Given the description of an element on the screen output the (x, y) to click on. 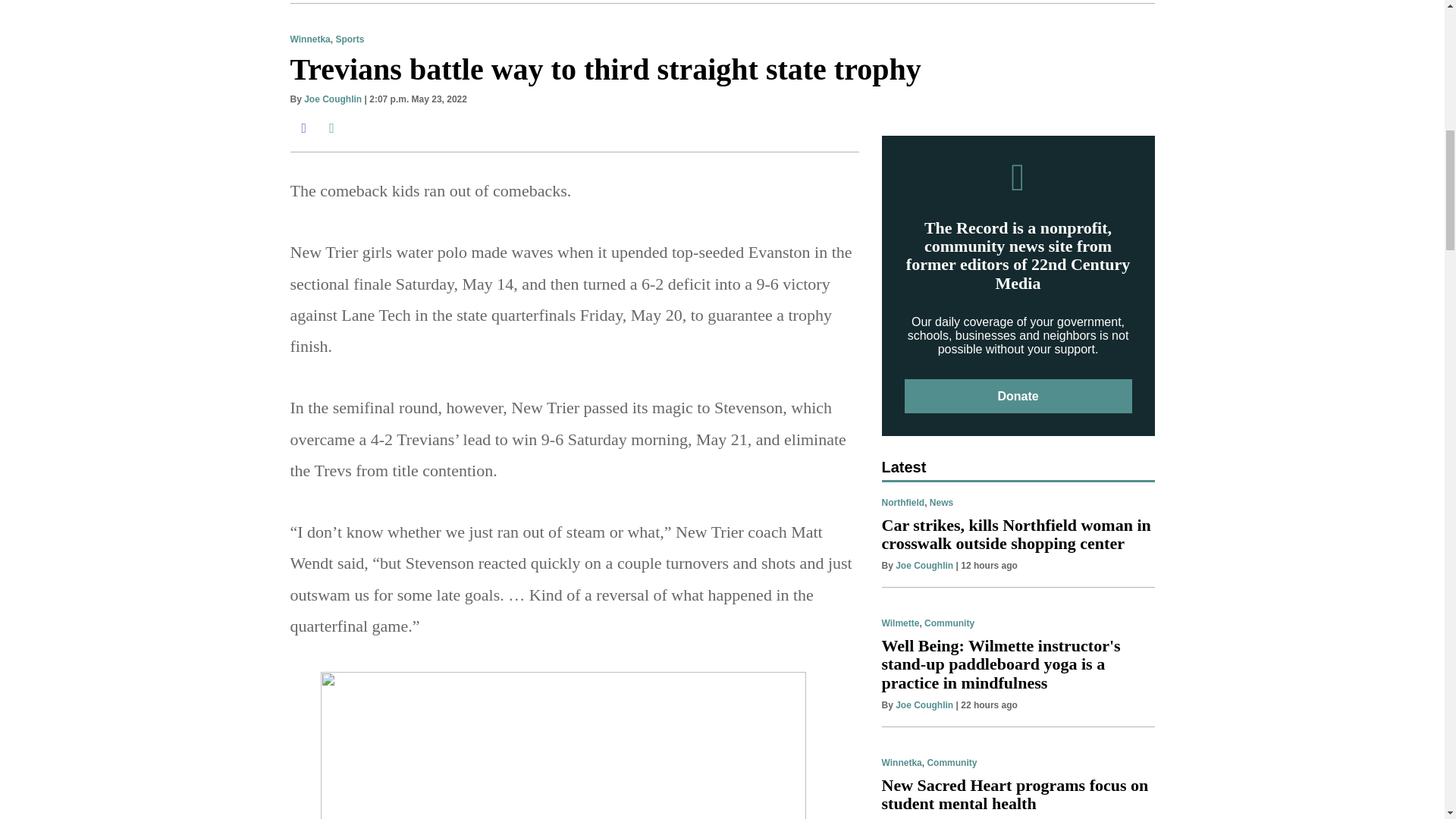
Joe Coughlin (332, 99)
Sports (349, 39)
Winnetka (309, 39)
